Given the description of an element on the screen output the (x, y) to click on. 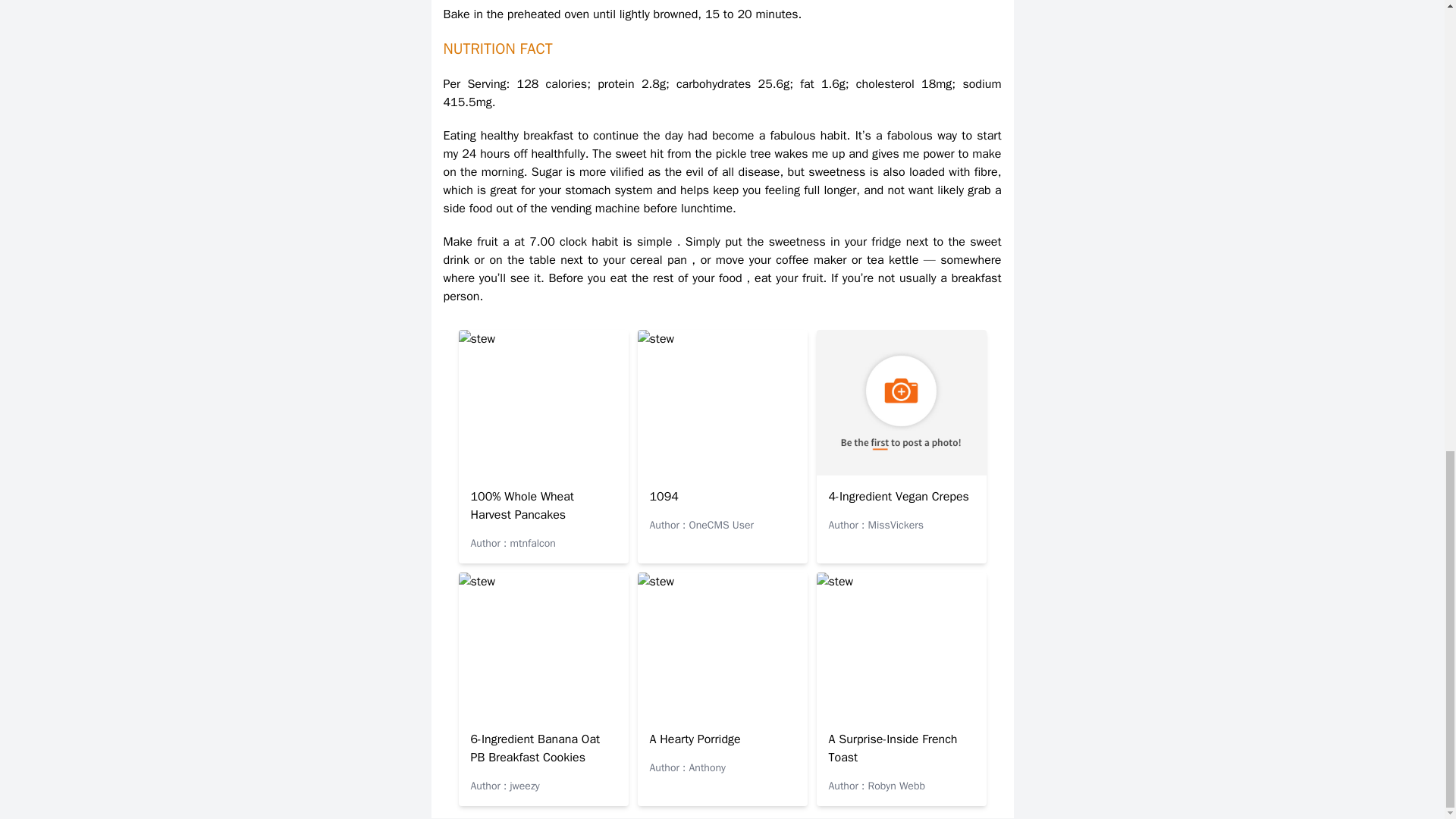
1094 (663, 496)
A Surprise-Inside French Toast (892, 748)
4-Ingredient Vegan Crepes (898, 496)
A Hearty Porridge (694, 739)
6-Ingredient Banana Oat PB Breakfast Cookies (534, 748)
